Given the description of an element on the screen output the (x, y) to click on. 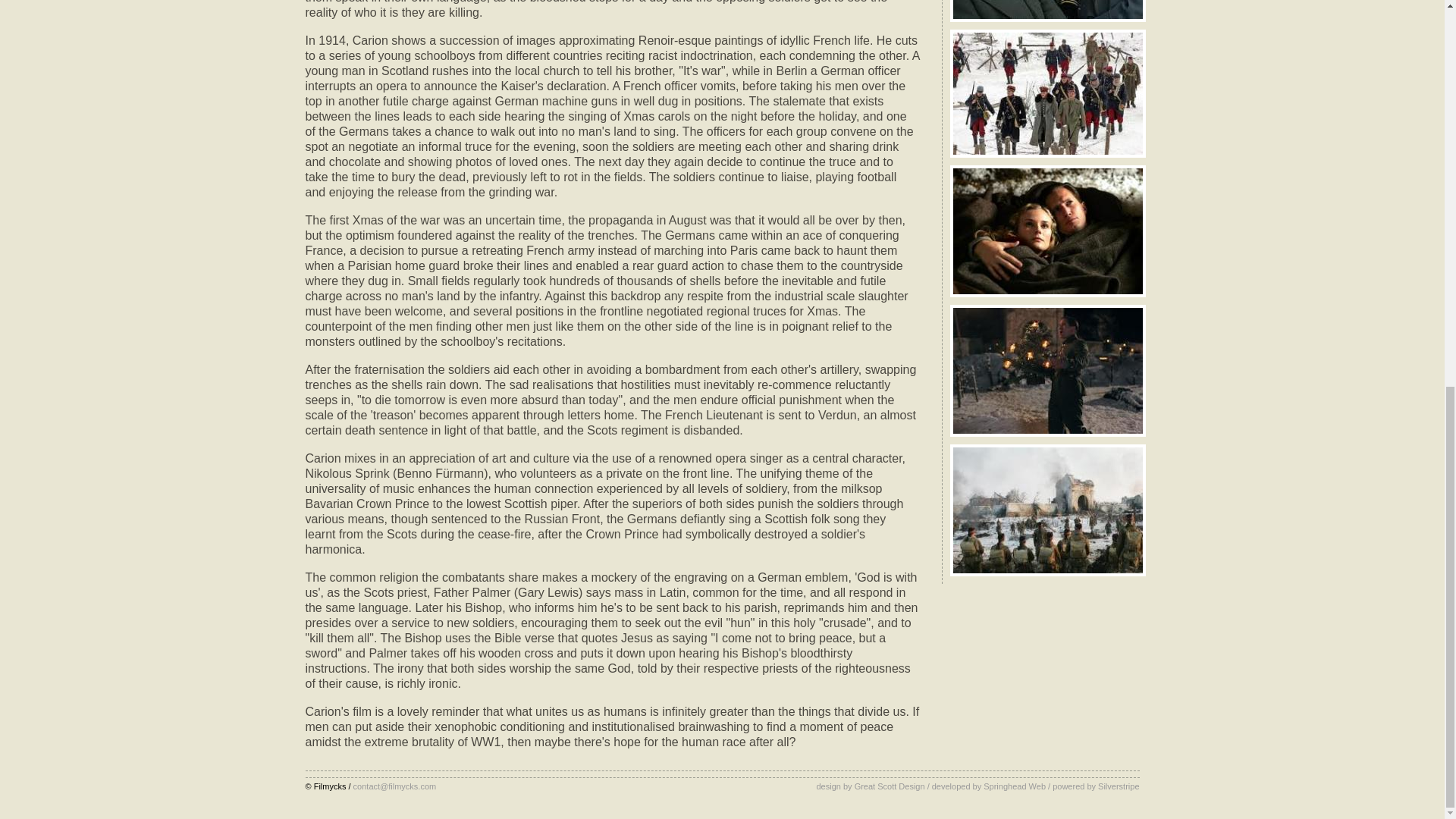
Great Scott Design (889, 786)
Silverstripe (1117, 786)
Springhead Web (1014, 786)
